Given the description of an element on the screen output the (x, y) to click on. 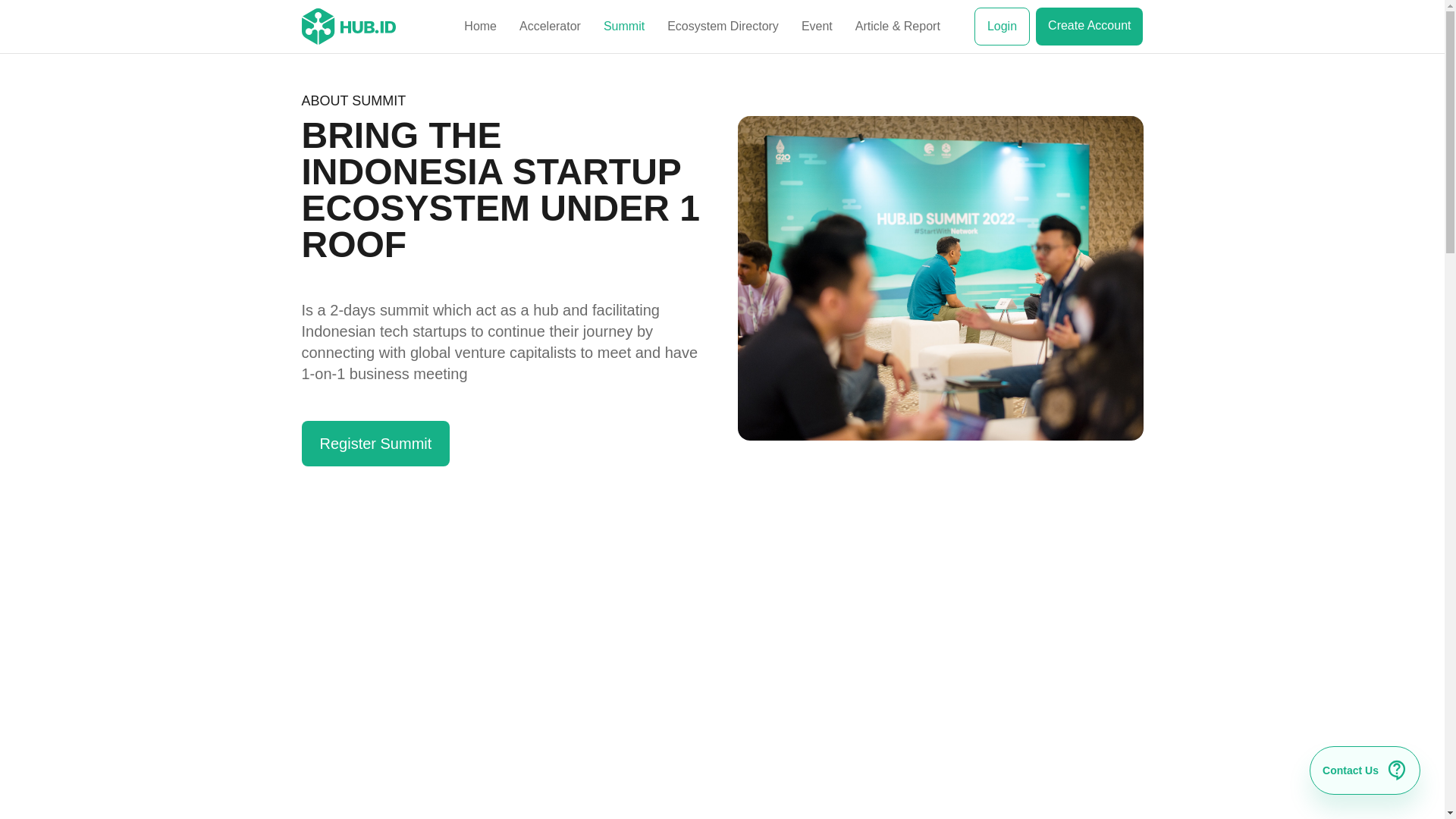
Event (817, 25)
Register Summit (375, 457)
Accelerator (549, 25)
Create Account (1088, 26)
Ecosystem Directory (722, 25)
Contact Us (1364, 770)
Home (480, 25)
Login (1001, 26)
Summit (624, 25)
